Given the description of an element on the screen output the (x, y) to click on. 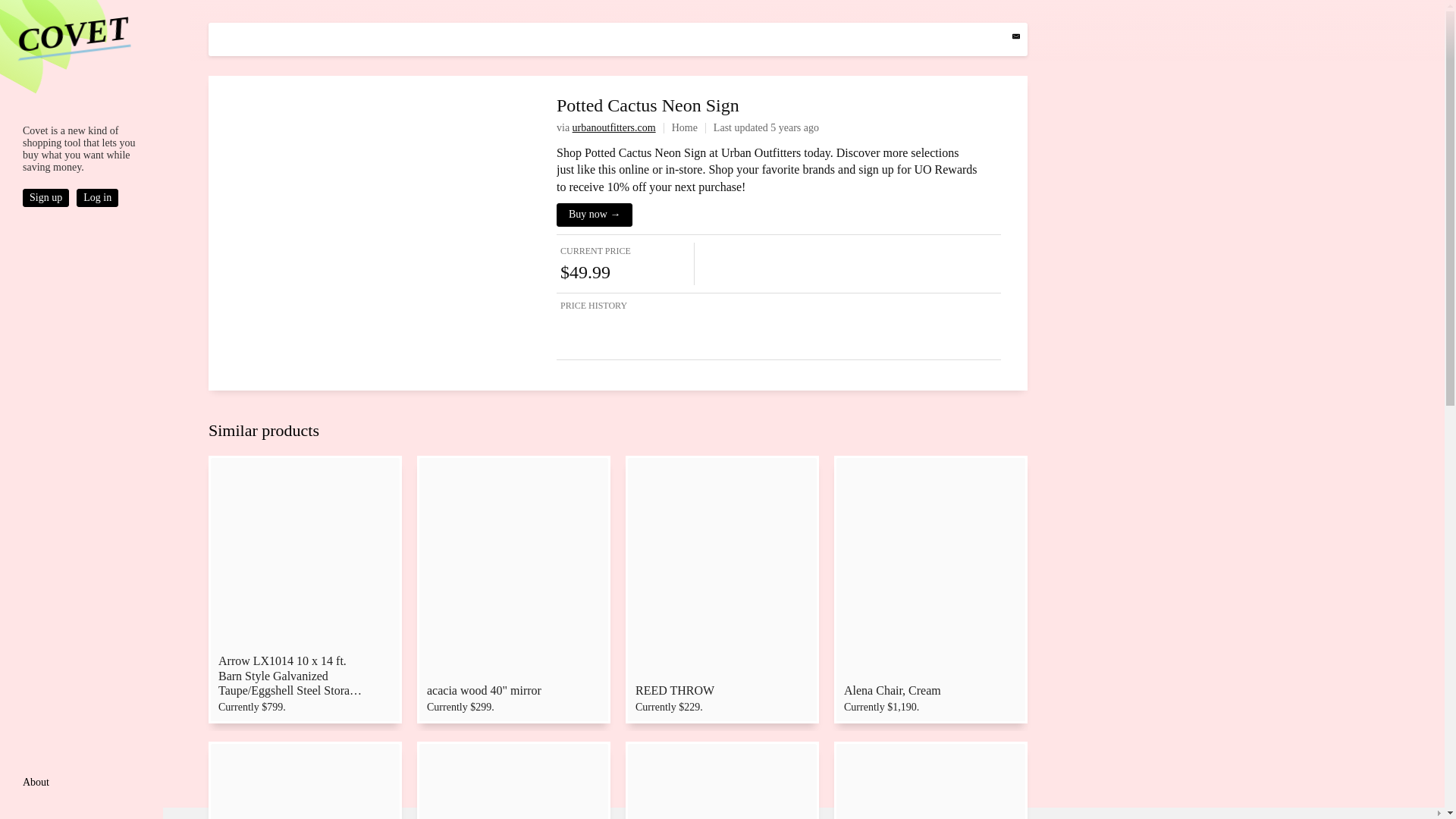
Sign up (50, 196)
urbanoutfitters.com (614, 127)
COVET (70, 28)
About (36, 781)
Log in (101, 196)
